Given the description of an element on the screen output the (x, y) to click on. 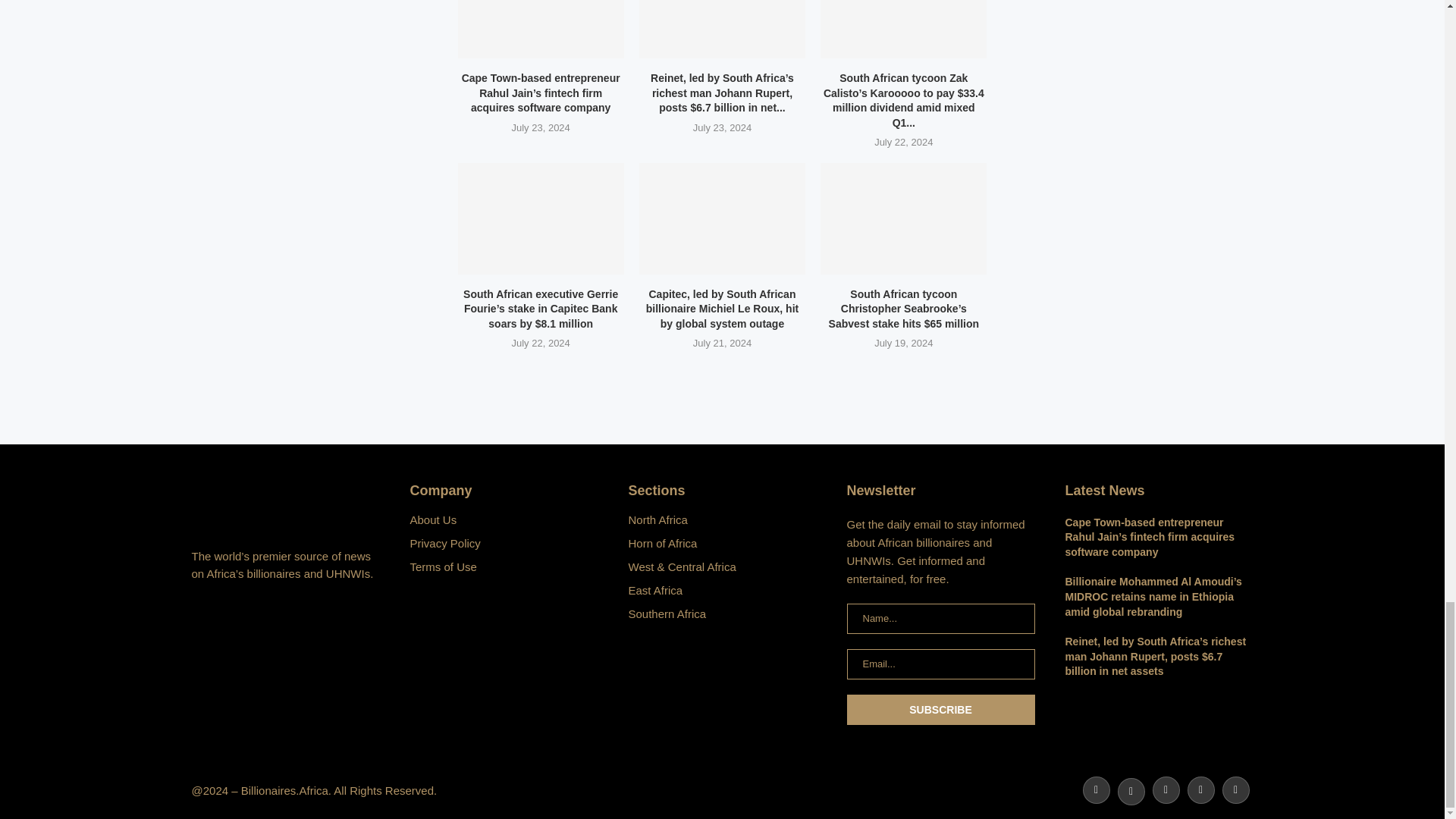
Subscribe (939, 709)
